Given the description of an element on the screen output the (x, y) to click on. 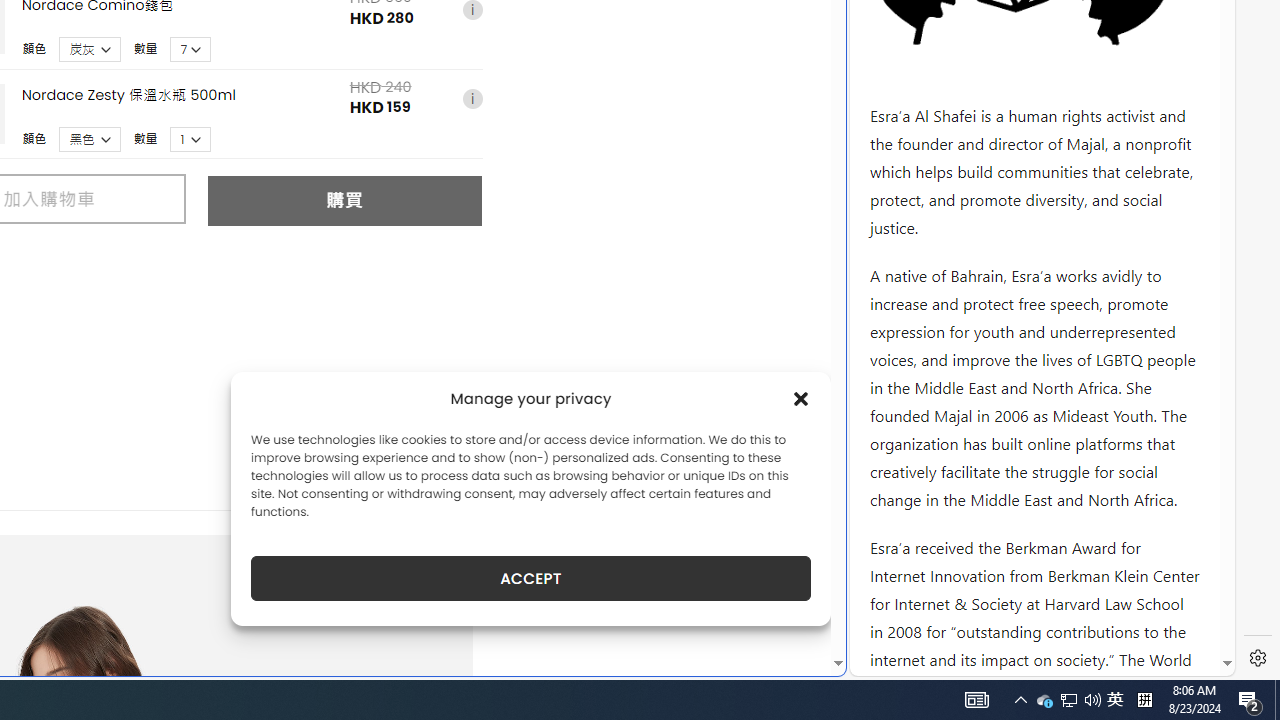
Actions for this site (1129, 306)
Class: cmplz-close (801, 398)
MSN (687, 223)
i (472, 99)
ACCEPT (530, 578)
Class: upsell-v2-product-upsell-variable-product-qty-select (191, 139)
google_privacy_policy_zh-CN.pdf (687, 482)
